Given the description of an element on the screen output the (x, y) to click on. 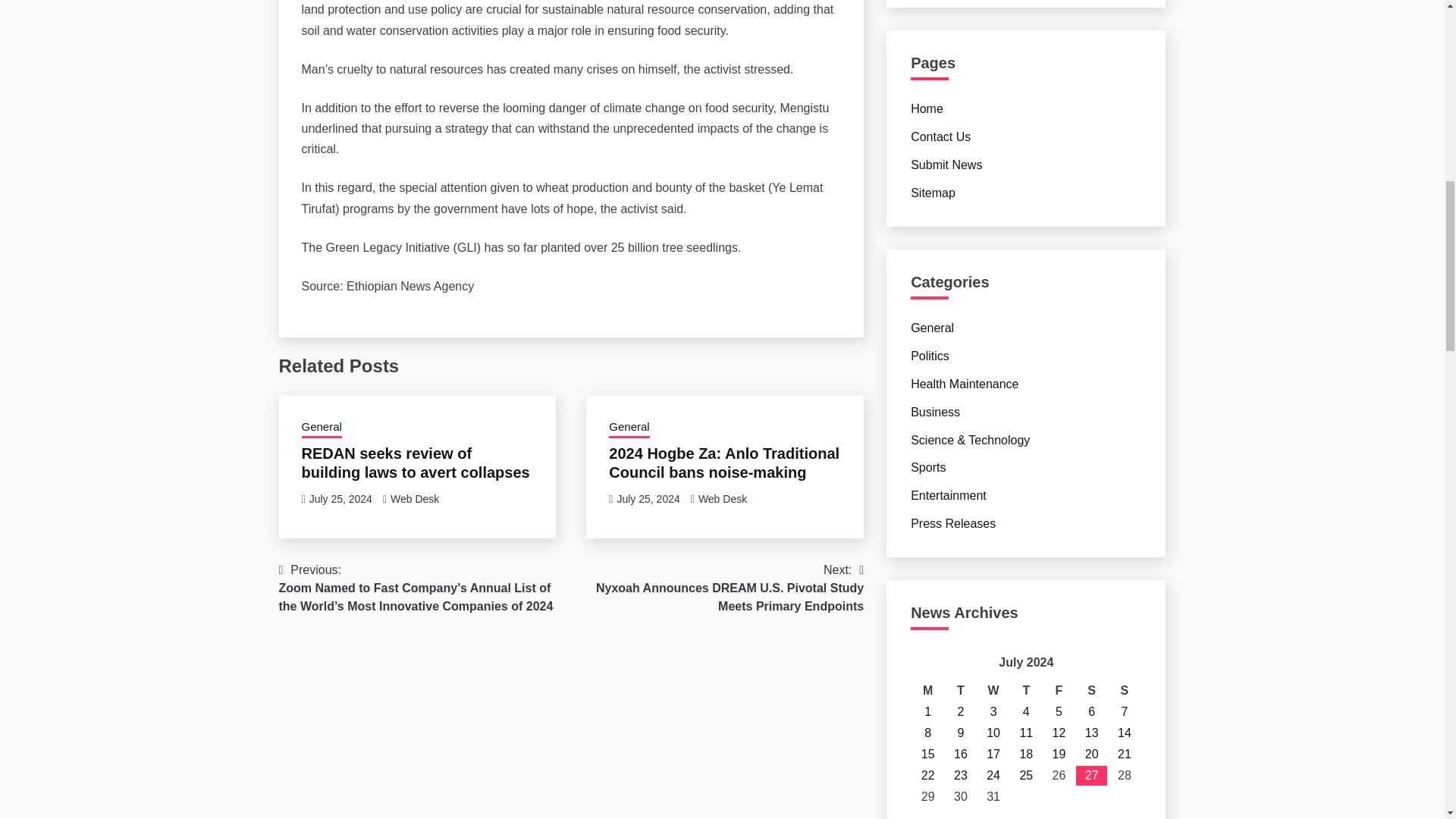
Wednesday (993, 690)
Home (927, 108)
July 25, 2024 (647, 499)
Tuesday (959, 690)
General (628, 428)
Friday (1058, 690)
July 25, 2024 (340, 499)
Web Desk (414, 499)
Sunday (1124, 690)
Saturday (1090, 690)
2024 Hogbe Za: Anlo Traditional Council bans noise-making (724, 461)
REDAN seeks review of building laws to avert collapses (415, 461)
Thursday (1026, 690)
Web Desk (722, 499)
Monday (927, 690)
